Given the description of an element on the screen output the (x, y) to click on. 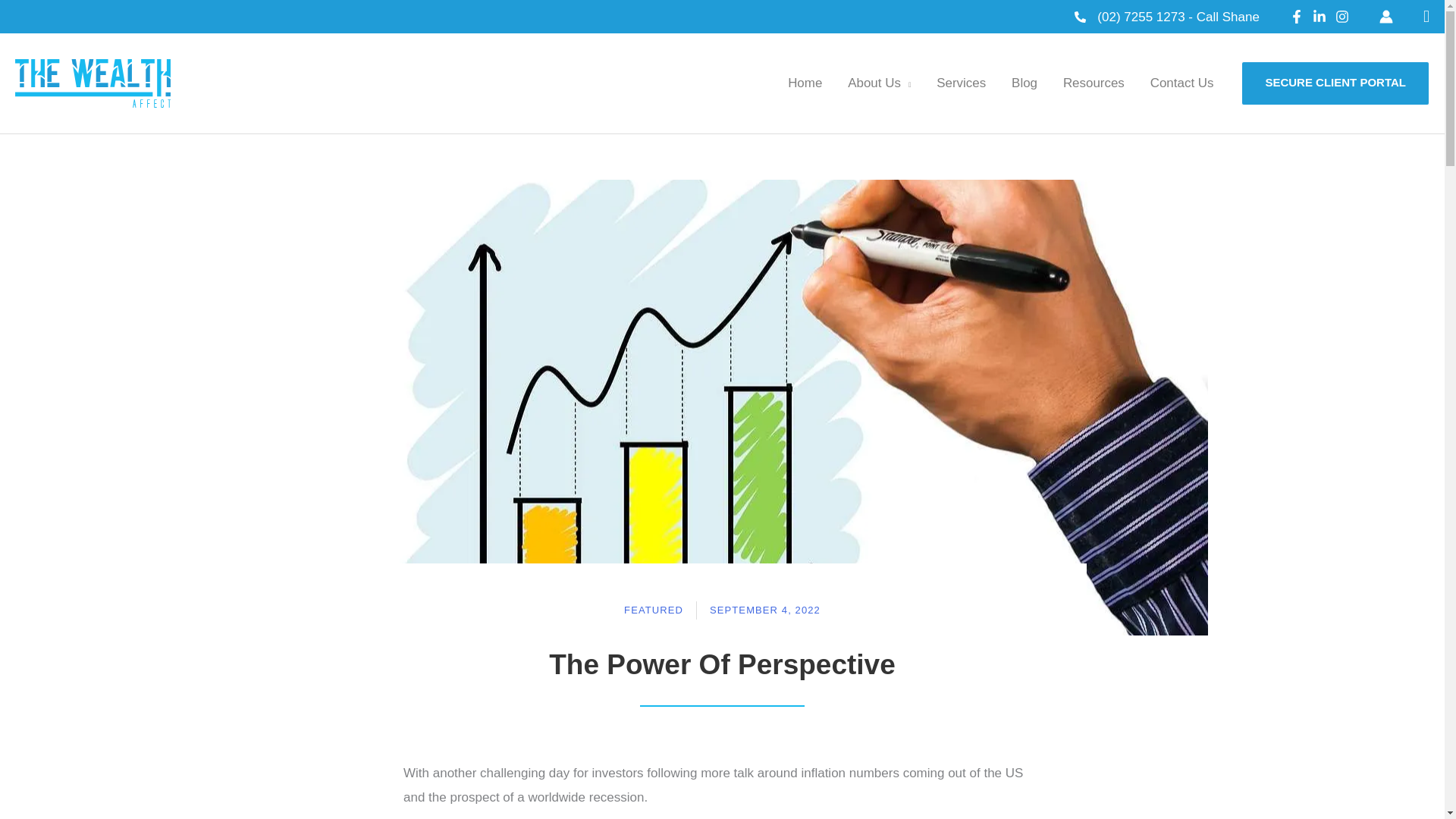
Services (960, 82)
SECURE CLIENT PORTAL (1335, 83)
FEATURED (653, 609)
Contact Us (1182, 82)
Resources (1093, 82)
Blog (1023, 82)
Home (804, 82)
SEPTEMBER 4, 2022 (765, 610)
About Us (878, 82)
